Given the description of an element on the screen output the (x, y) to click on. 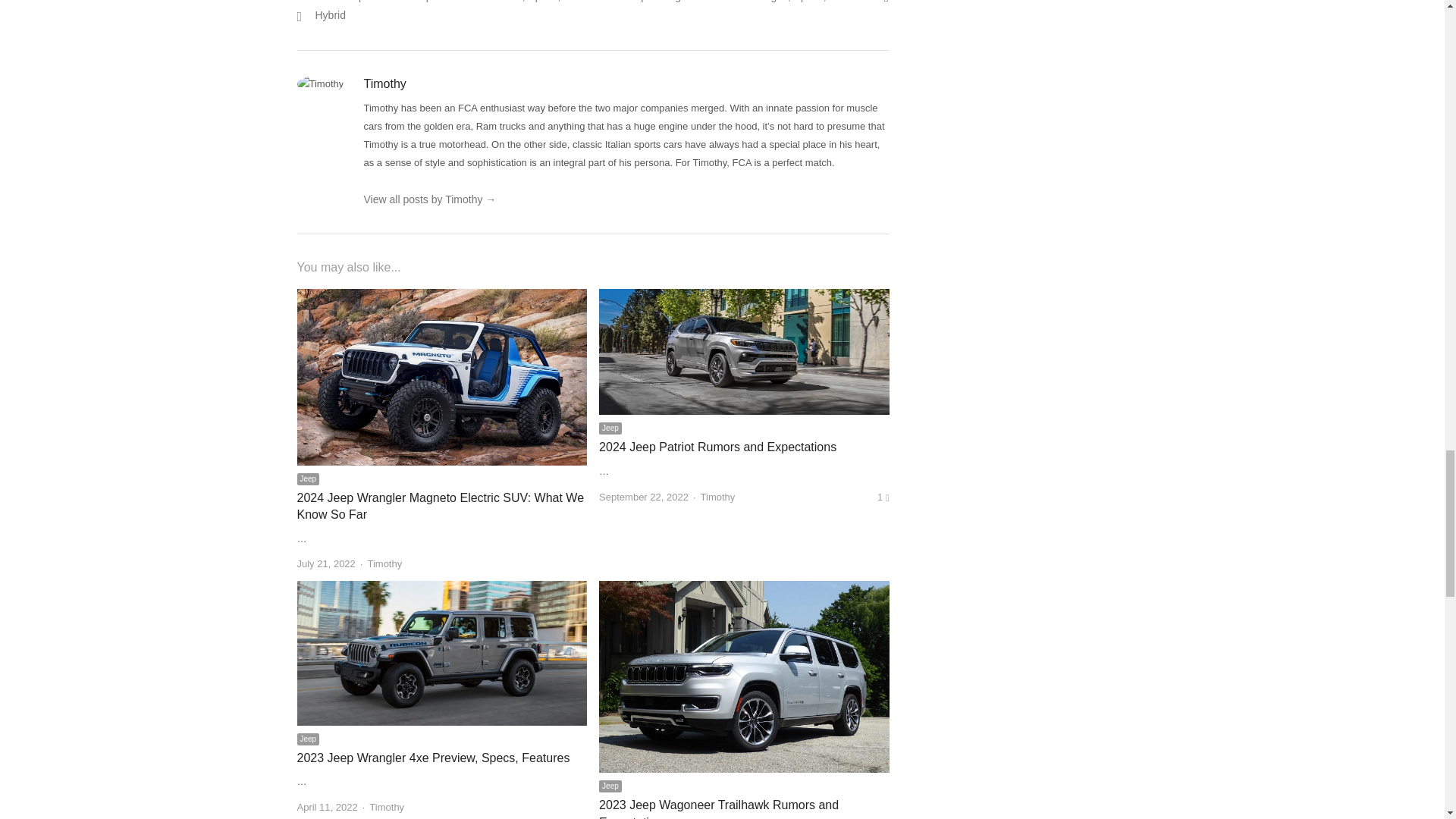
2023 Jeep Wrangler 4xe Preview, Specs, Features (442, 589)
2024 Jeep Patriot Rumors and Expectations (716, 446)
Timothy (386, 807)
Comment on 2024 Jeep Patriot Rumors and Expectations (882, 497)
Jeep (308, 479)
Timothy (717, 496)
2024 Jeep Wrangler Magneto Electric SUV: What We Know So Far (441, 505)
2023 Jeep Wagoneer Trailhawk Rumors and Expectations (718, 808)
Jeep (609, 786)
Jeep (609, 428)
2024 Jeep Patriot Rumors and Expectations (716, 446)
2024 Jeep Wrangler Magneto Electric SUV: What We Know So Far (442, 297)
Timothy (383, 563)
